Given the description of an element on the screen output the (x, y) to click on. 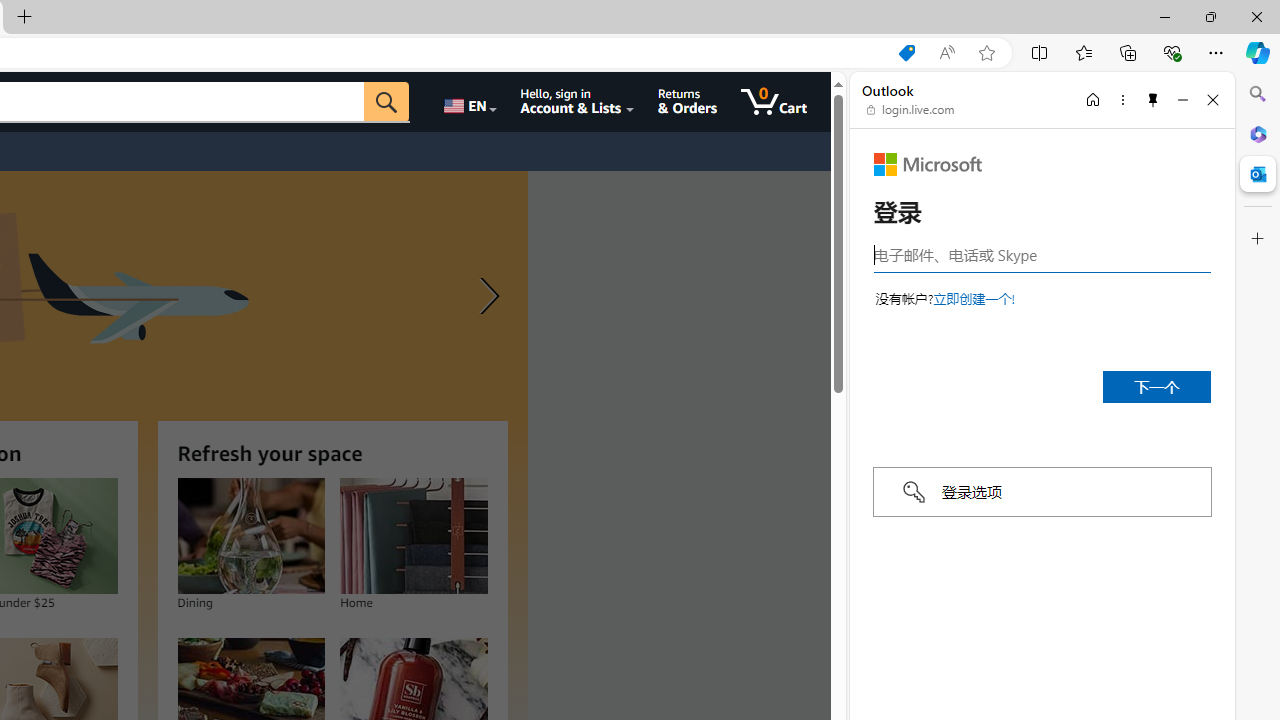
Go (386, 101)
login.live.com (911, 110)
0 items in cart (774, 101)
Returns & Orders (686, 101)
